Given the description of an element on the screen output the (x, y) to click on. 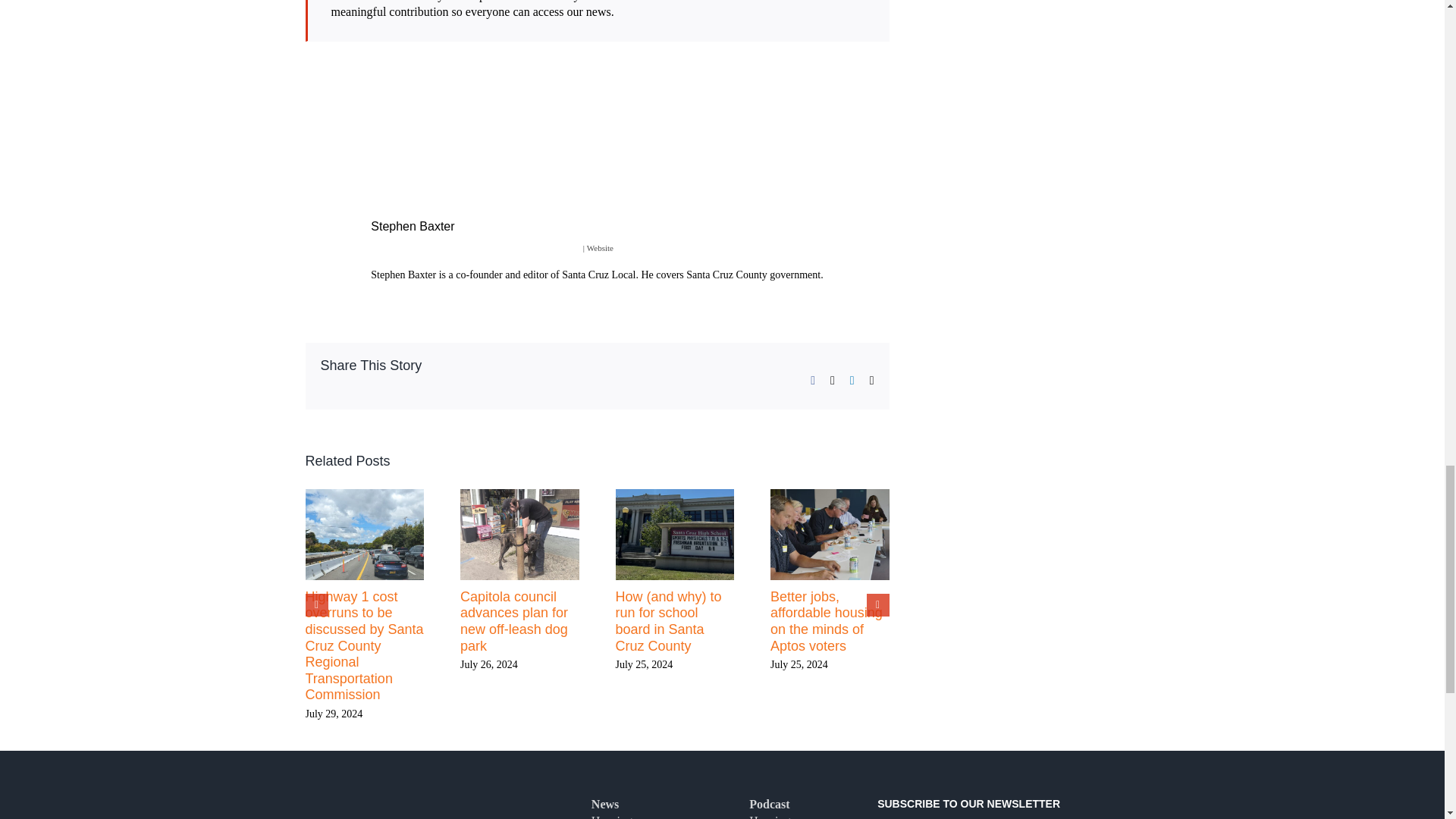
Better jobs, affordable housing on the minds of Aptos voters (826, 620)
Capitola council advances plan for new off-leash dog park (513, 620)
